Given the description of an element on the screen output the (x, y) to click on. 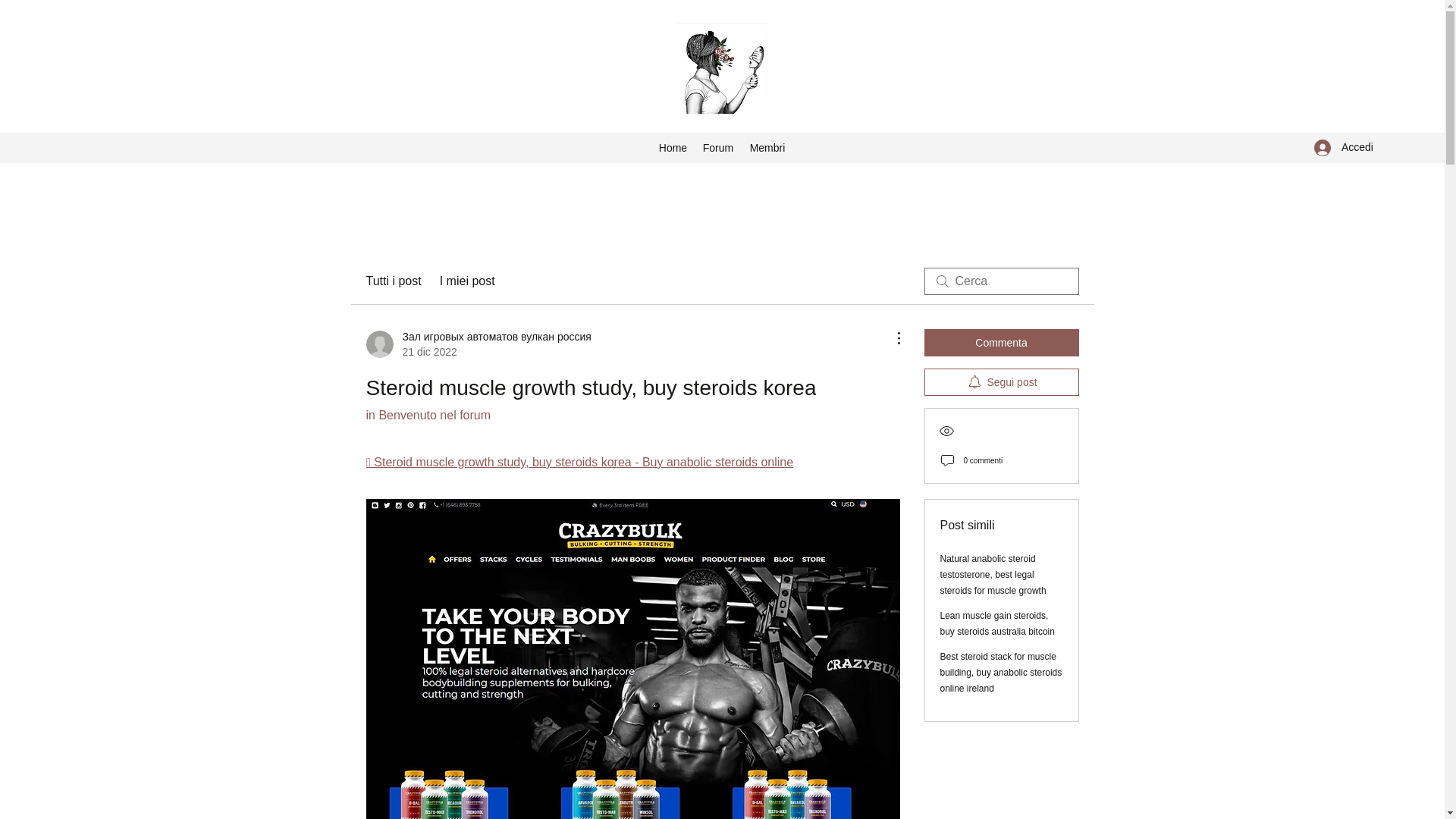
Segui post (1000, 381)
Membri (767, 147)
Forum (717, 147)
Tutti i post (392, 280)
in Benvenuto nel forum (427, 414)
Home (672, 147)
Lean muscle gain steroids, buy steroids australia bitcoin (997, 623)
Accedi (1343, 147)
